Given the description of an element on the screen output the (x, y) to click on. 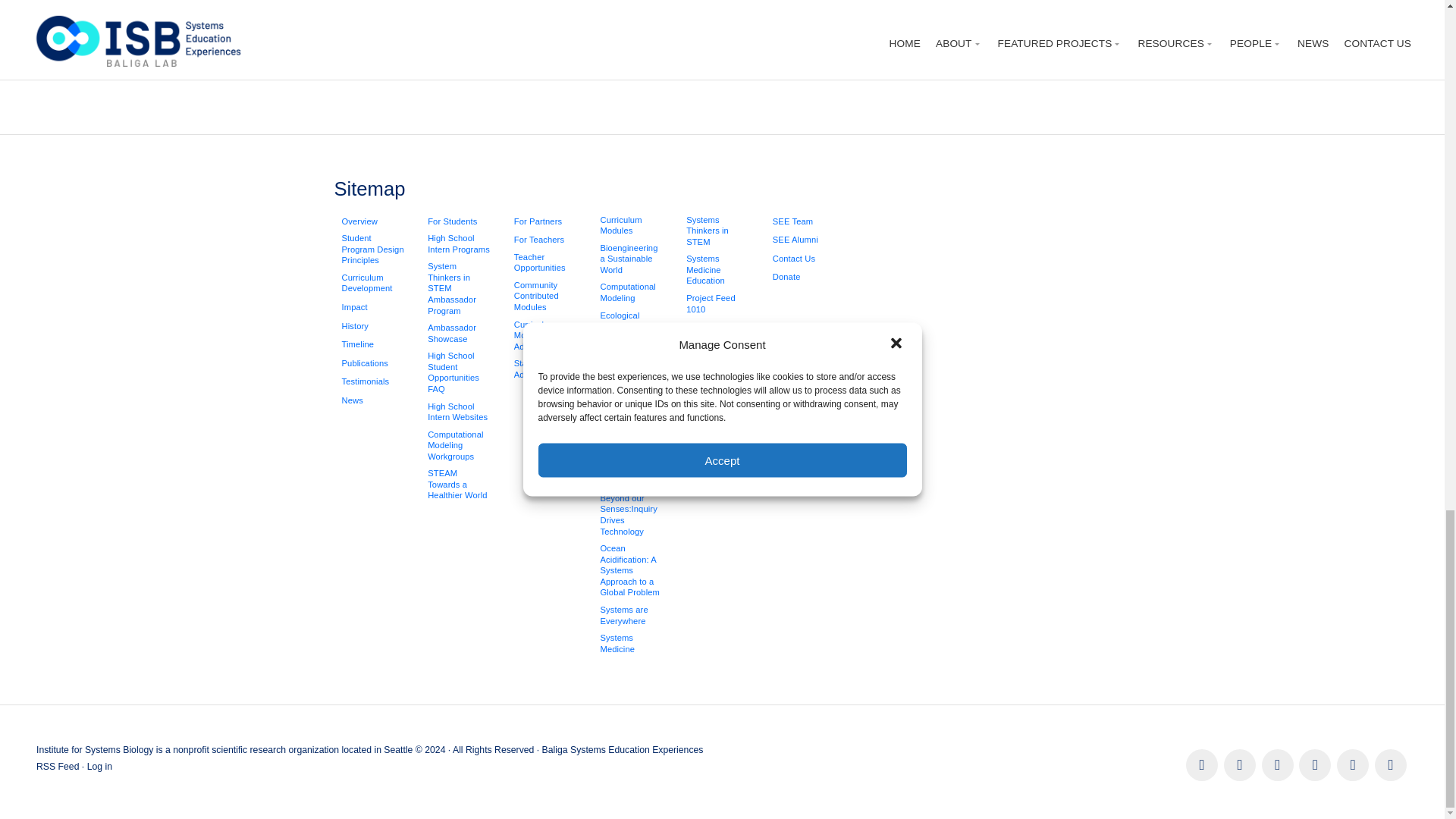
Twitter (1239, 765)
Linkedin (1278, 765)
Facebook (1201, 765)
